Given the description of an element on the screen output the (x, y) to click on. 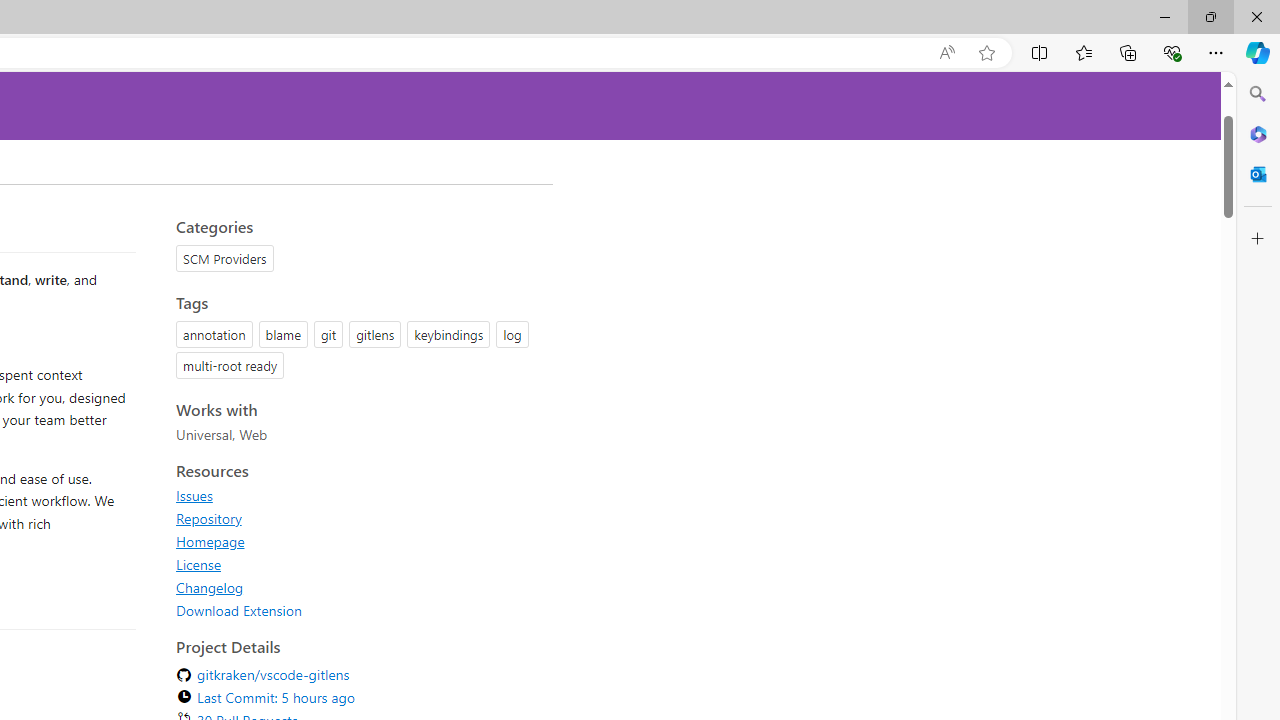
Repository (208, 518)
Changelog (358, 587)
Issues (194, 495)
Download Extension (239, 610)
Homepage (210, 541)
License (358, 564)
